Given the description of an element on the screen output the (x, y) to click on. 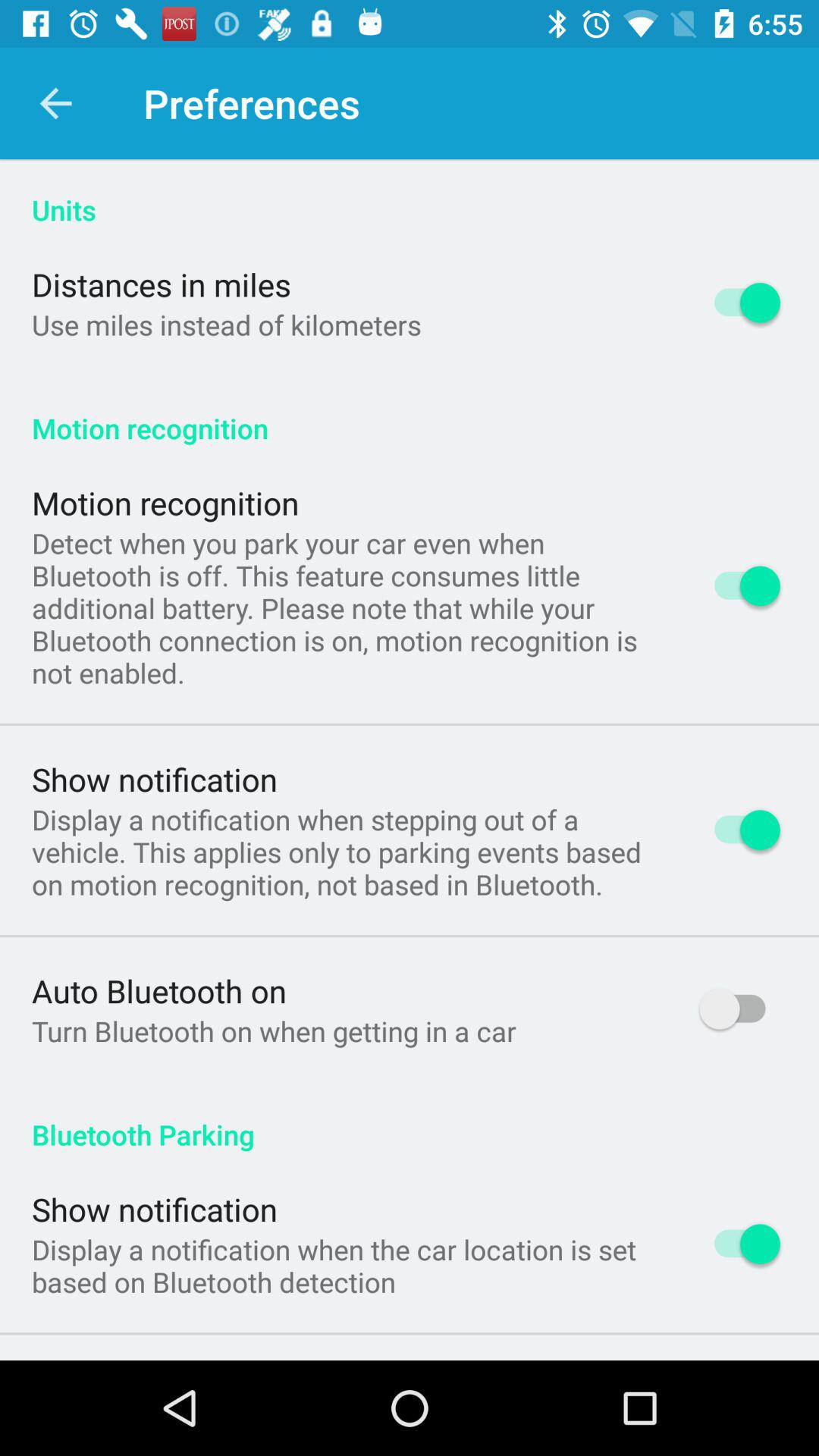
turn off item above the show notification (345, 607)
